Given the description of an element on the screen output the (x, y) to click on. 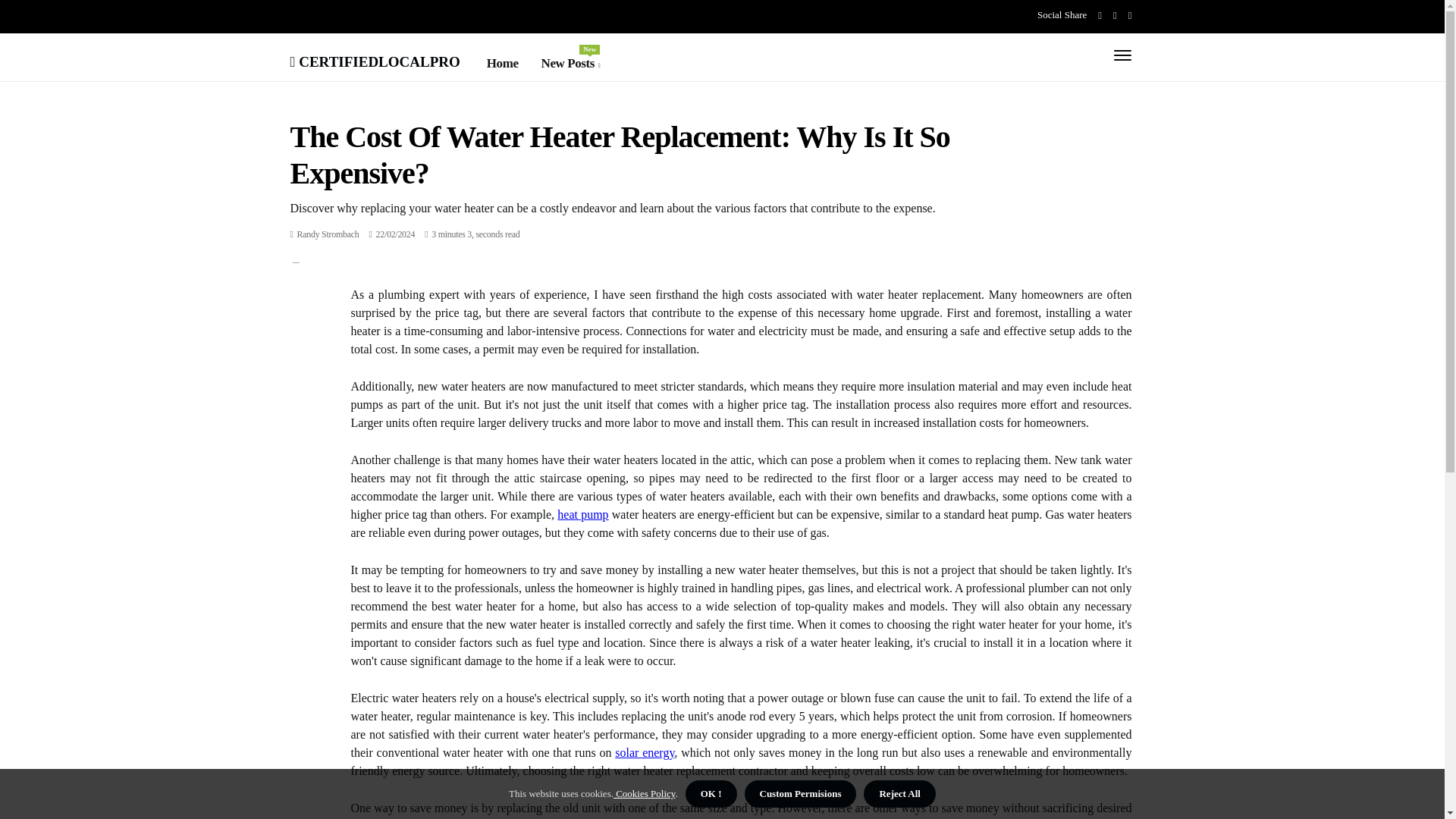
Home (502, 63)
Posts by Randy Strombach (328, 234)
solar energy (644, 752)
Randy Strombach (328, 234)
certifiedlocalpro (374, 59)
heat pump (582, 513)
